Given the description of an element on the screen output the (x, y) to click on. 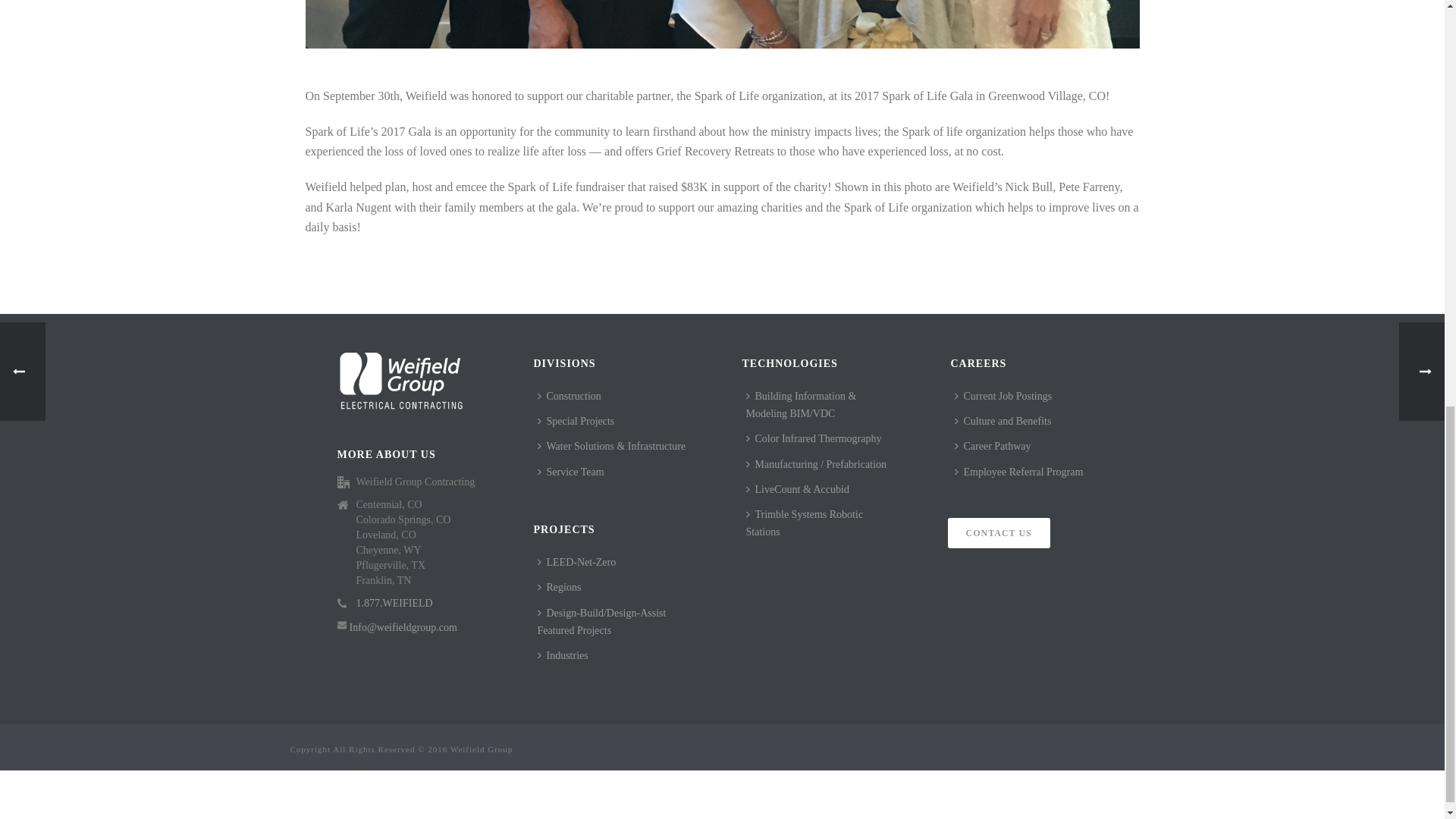
WEIFIELD SUPPORTS THE 2017 SPARK OF LIFE GALA! (721, 24)
CONTACT US (998, 532)
